Given the description of an element on the screen output the (x, y) to click on. 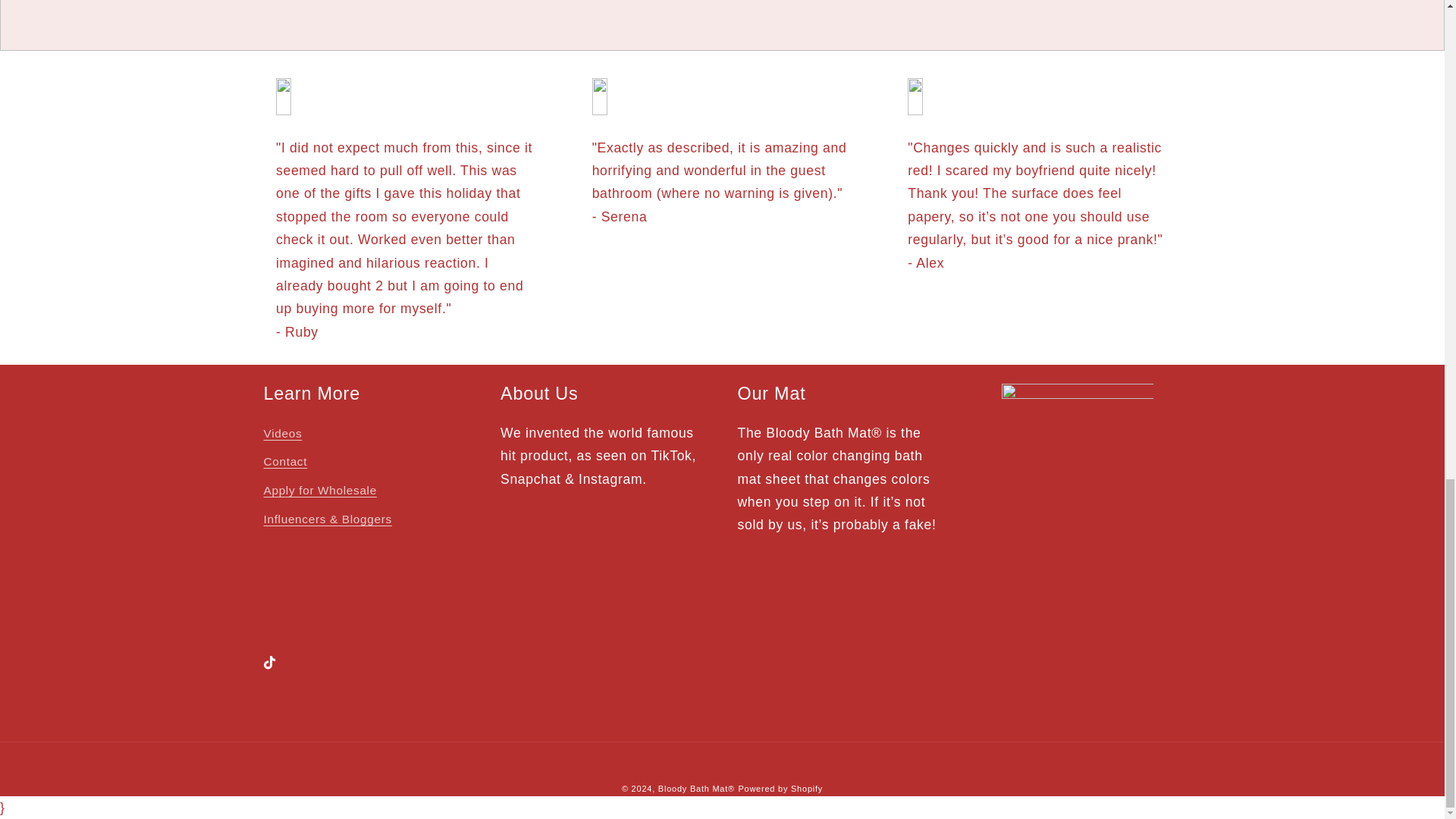
Videos (282, 435)
Contact (285, 461)
Apply for Wholesale (320, 491)
